Given the description of an element on the screen output the (x, y) to click on. 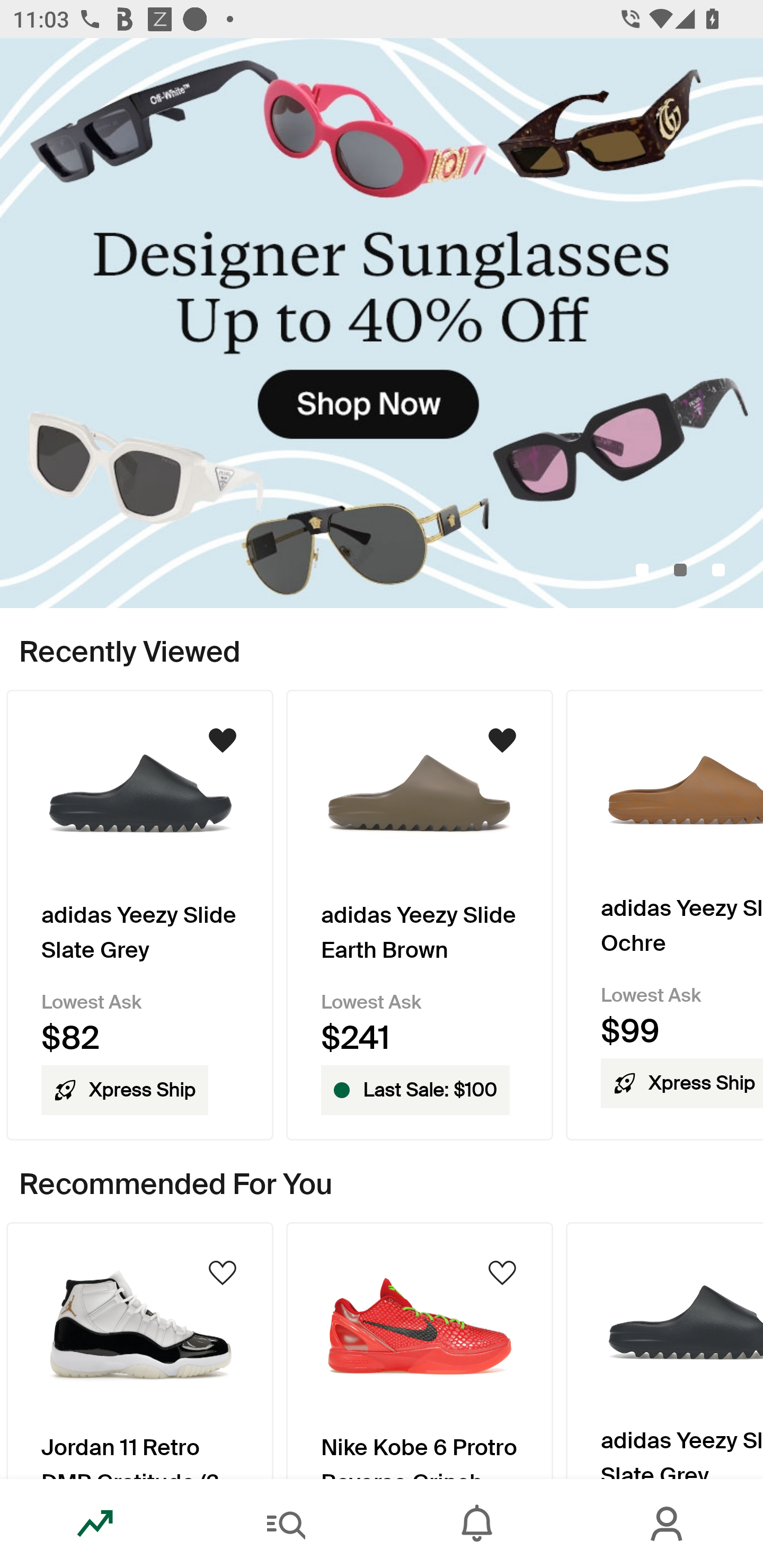
DesignerSunglassesUpto40_Off_Primary_Mobile.jpg (381, 322)
Product Image Jordan 11 Retro DMP Gratitude (2023) (139, 1349)
Product Image Nike Kobe 6 Protro Reverse Grinch (419, 1349)
Product Image adidas Yeezy Slide Slate Grey (664, 1349)
Search (285, 1523)
Inbox (476, 1523)
Account (667, 1523)
